Given the description of an element on the screen output the (x, y) to click on. 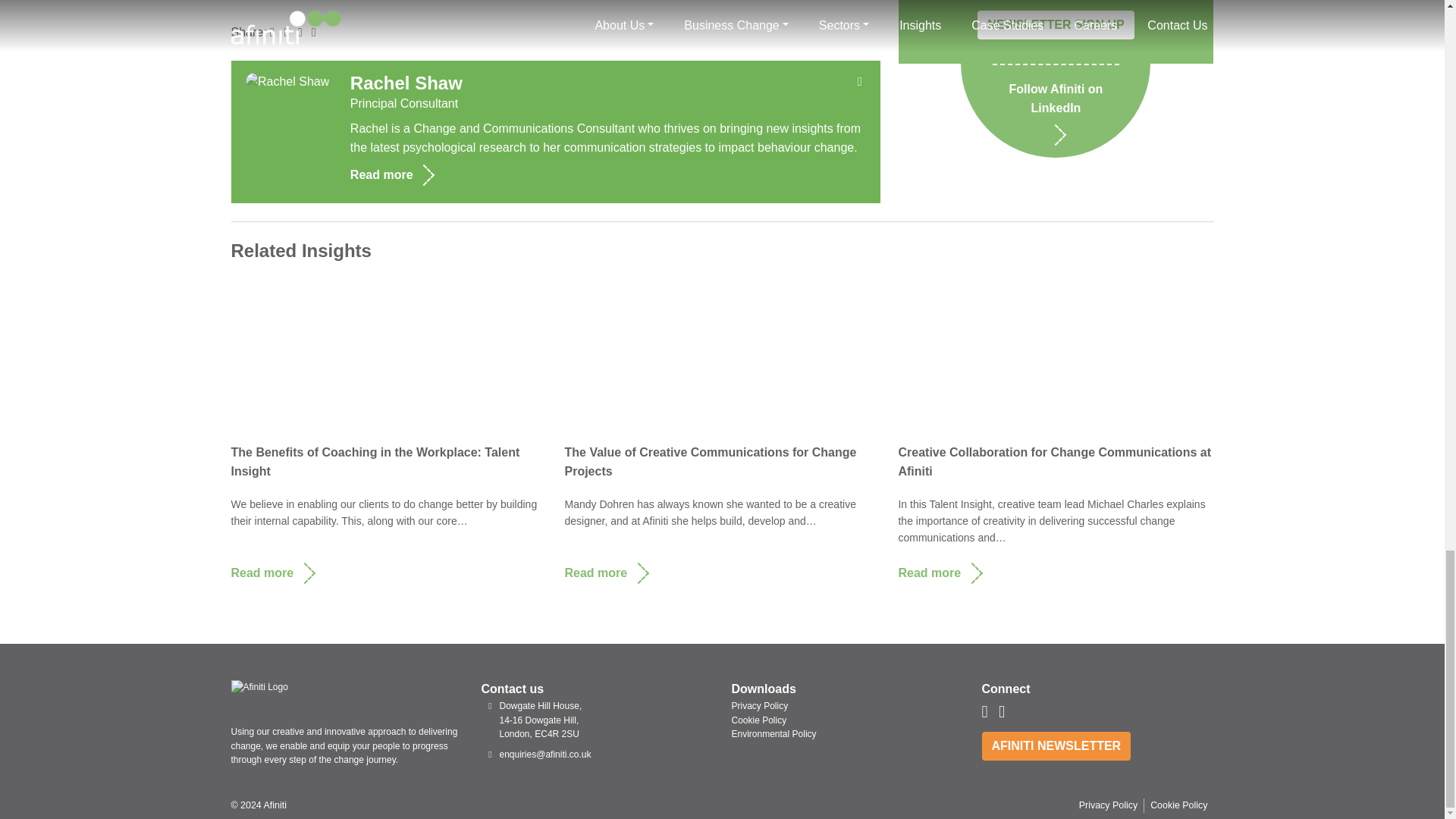
Read more (608, 174)
Privacy Policy (758, 706)
